Given the description of an element on the screen output the (x, y) to click on. 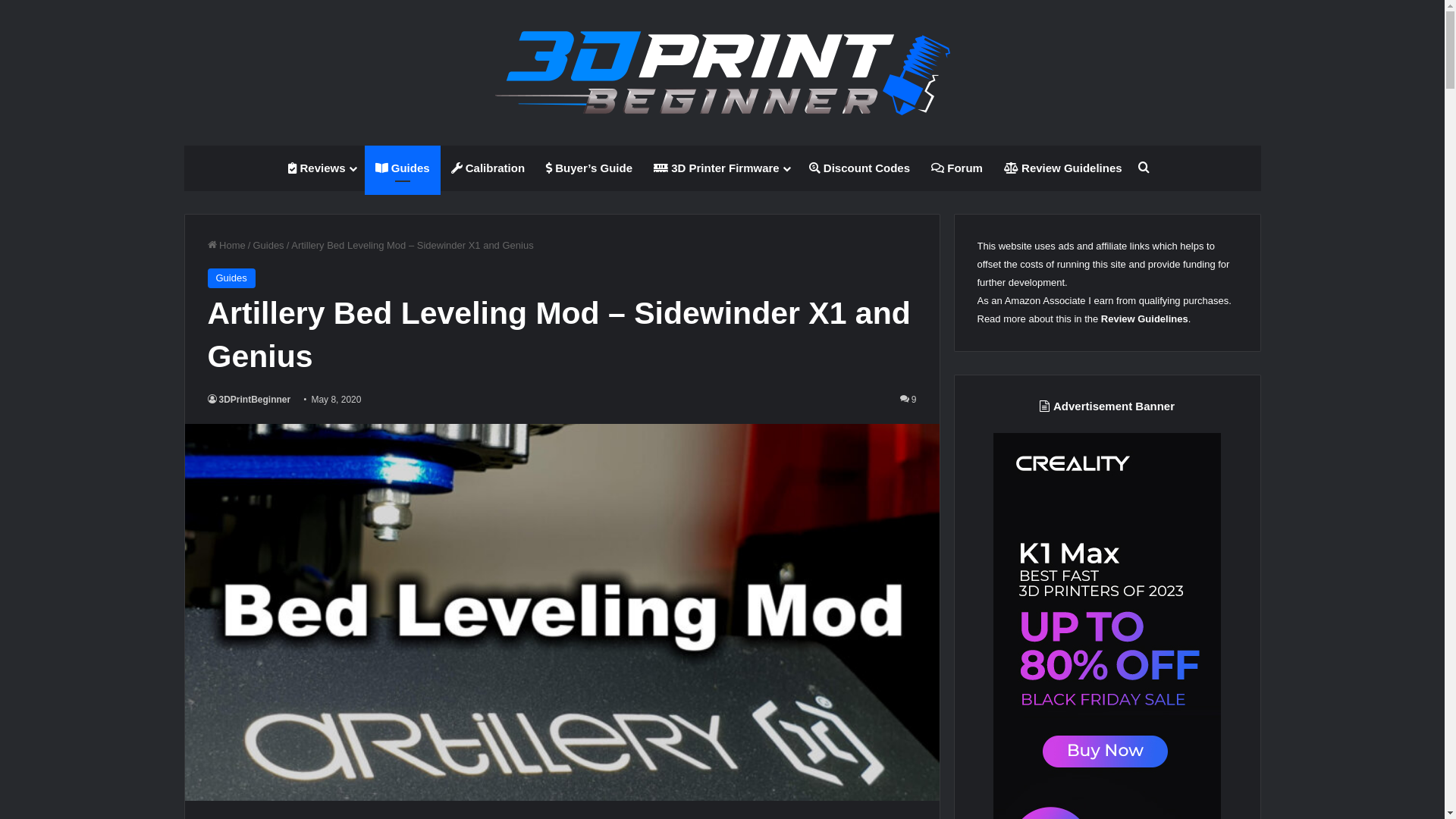
3D Printer Firmware Element type: text (720, 168)
Calibration Element type: text (488, 168)
Review Guidelines Element type: text (1144, 318)
3DPrintBeginner Element type: text (249, 399)
Review Guidelines Element type: text (1062, 168)
3D Print Beginner Element type: hover (721, 72)
Reviews Element type: text (320, 168)
Discount Codes Element type: text (859, 168)
Guides Element type: text (231, 278)
Forum Element type: text (956, 168)
Guides Element type: text (402, 168)
Guides Element type: text (267, 245)
Search for Element type: text (1143, 168)
Home Element type: text (226, 245)
